Given the description of an element on the screen output the (x, y) to click on. 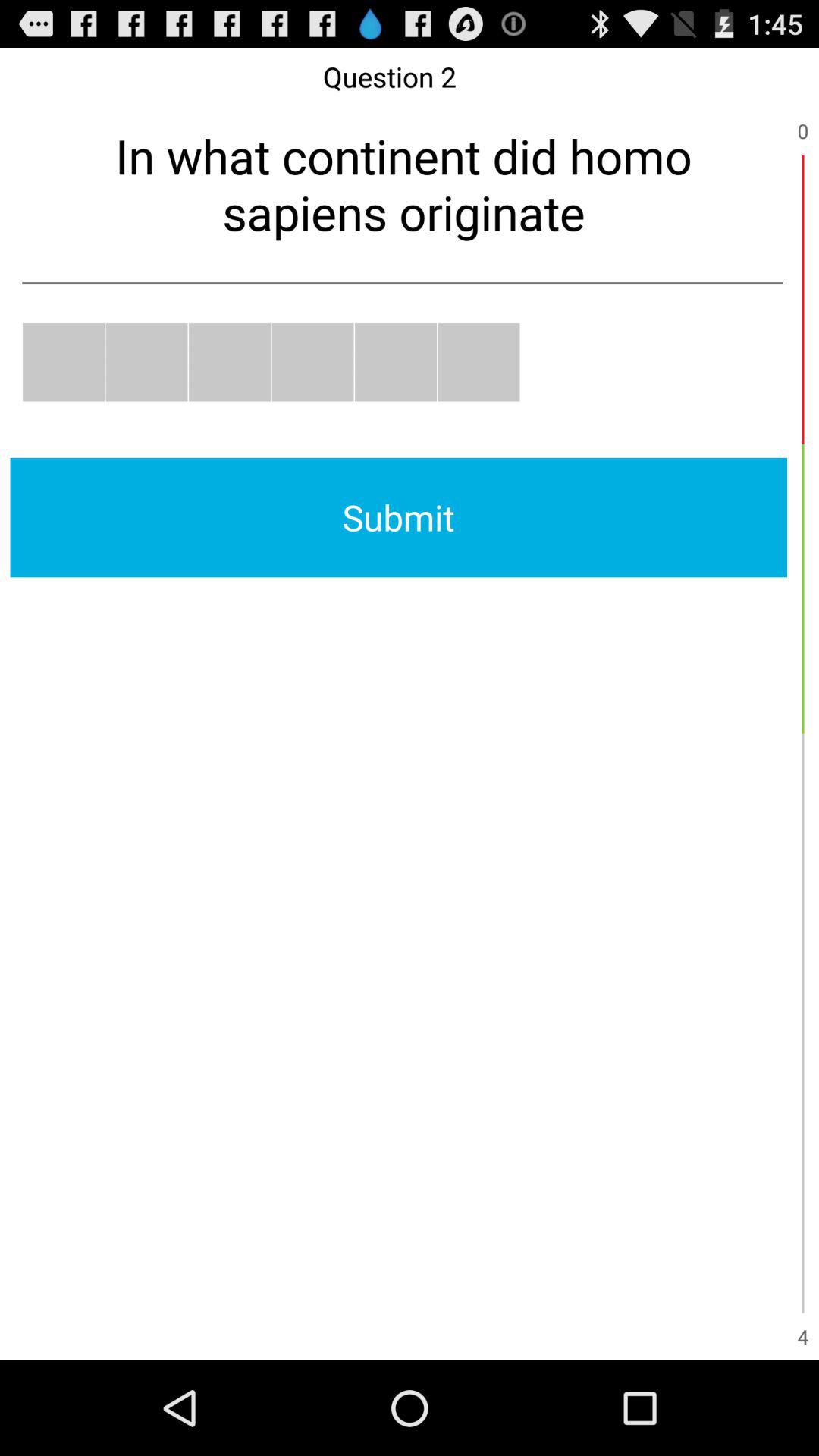
select item next to the submit (802, 588)
